Given the description of an element on the screen output the (x, y) to click on. 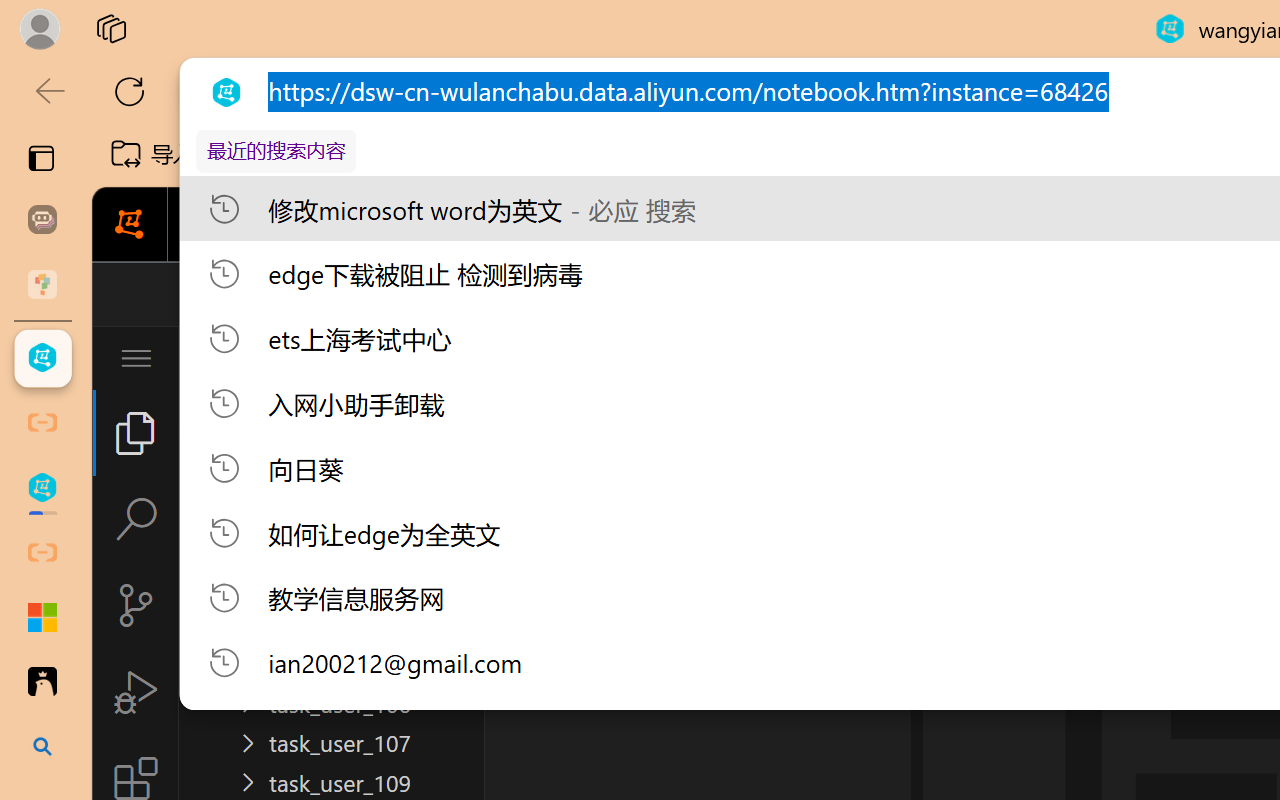
wangyian_dsw - DSW (42, 357)
Go Back (Alt+LeftArrow) (605, 294)
Notebook (652, 225)
wangyian_webcrawler - DSW (42, 487)
Search (Ctrl+Shift+F) (135, 519)
Explorer actions (390, 358)
Explorer (Ctrl+Shift+E) (135, 432)
Run and Debug (Ctrl+Shift+D) (135, 692)
Application Menu (135, 358)
Terminal (1046, 225)
